Given the description of an element on the screen output the (x, y) to click on. 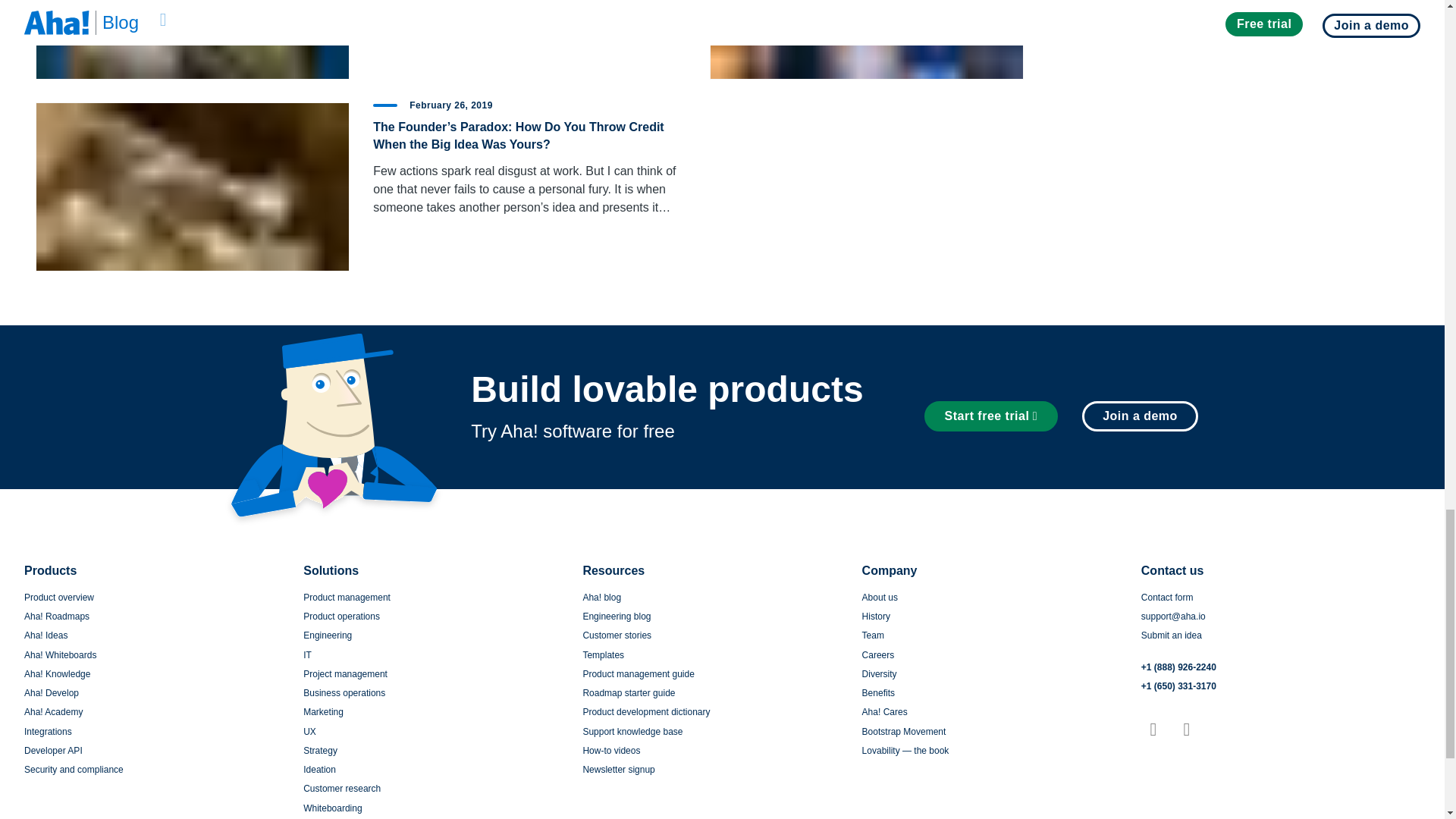
Product overview (59, 597)
Product management (346, 597)
Security and compliance (73, 769)
Start free trial (997, 415)
Aha! Roadmaps (56, 615)
Join a demo (1134, 415)
Aha! Ideas (45, 634)
Aha! Whiteboards (60, 655)
Aha! Knowledge (57, 674)
Engineering (327, 634)
Aha! Academy (53, 711)
Start free trial (991, 416)
Facebook (1186, 729)
Product operations (341, 615)
Integrations (47, 731)
